Given the description of an element on the screen output the (x, y) to click on. 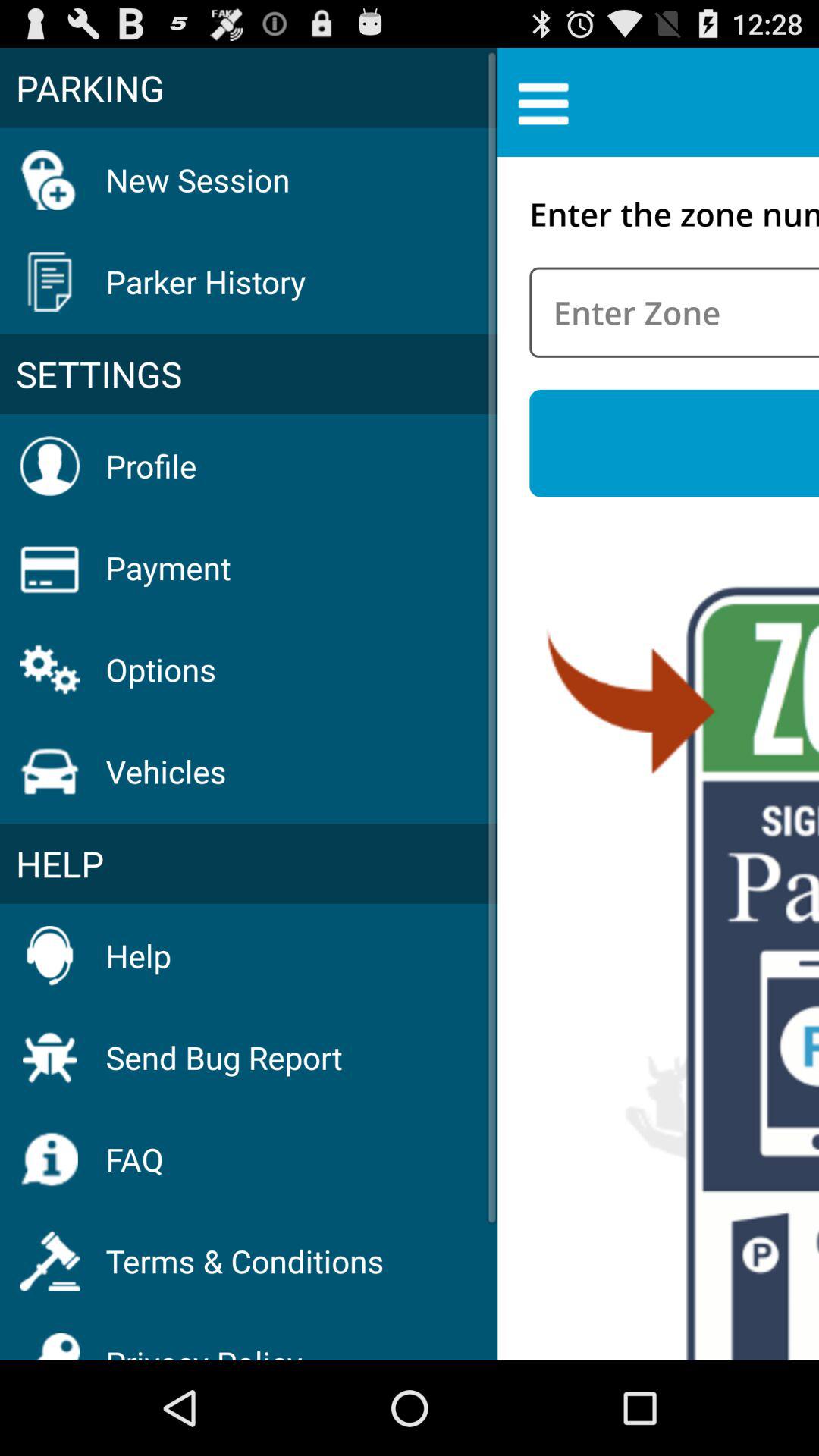
flip to parking icon (248, 87)
